Given the description of an element on the screen output the (x, y) to click on. 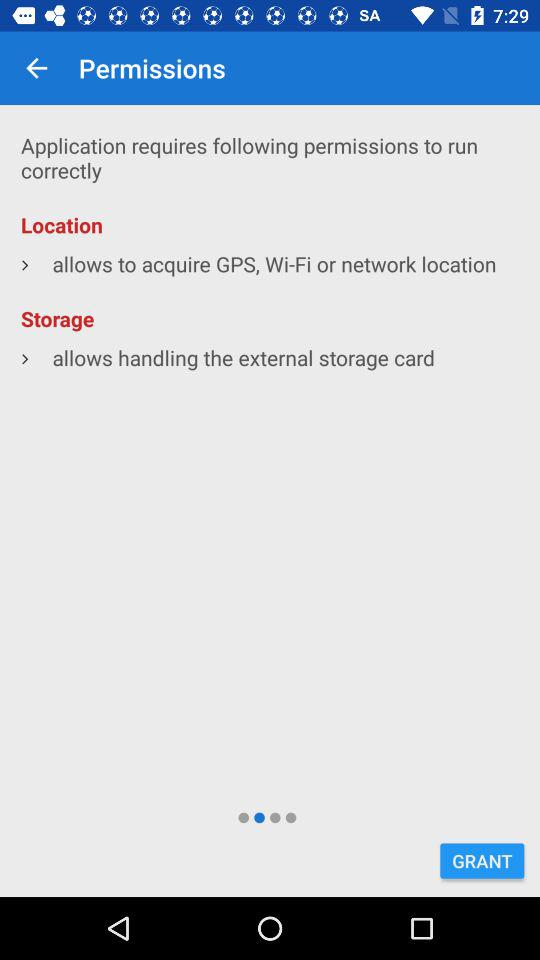
select the grant at the bottom right corner (482, 860)
